Given the description of an element on the screen output the (x, y) to click on. 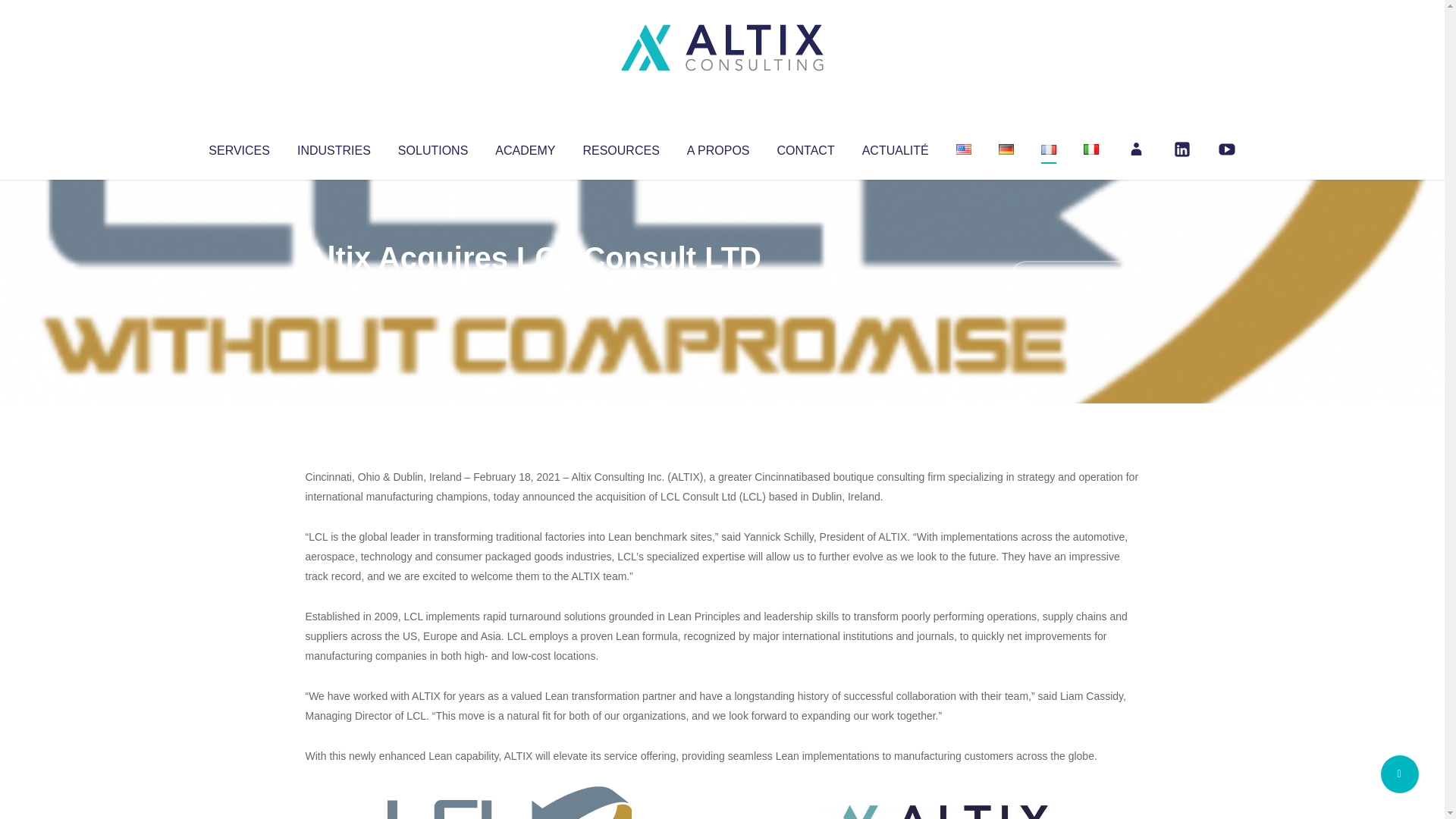
INDUSTRIES (334, 146)
Uncategorized (530, 287)
SOLUTIONS (432, 146)
Articles par Altix (333, 287)
RESOURCES (620, 146)
SERVICES (238, 146)
A PROPOS (718, 146)
Altix (333, 287)
ACADEMY (524, 146)
No Comments (1073, 278)
